Given the description of an element on the screen output the (x, y) to click on. 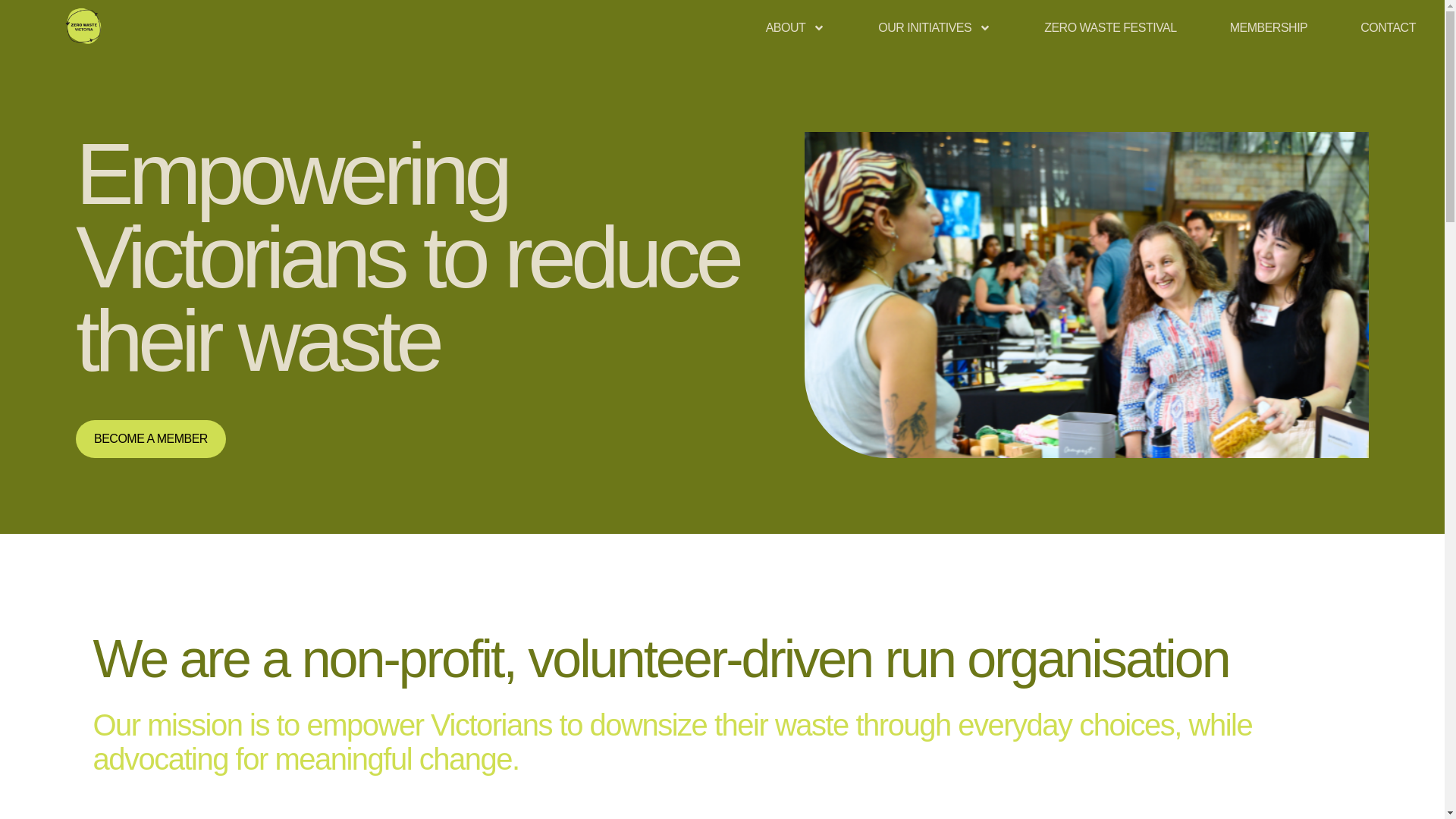
ZERO WASTE FESTIVAL (1109, 27)
OUR INITIATIVES (934, 27)
MEMBERSHIP (1268, 27)
ABOUT (795, 27)
CONTACT (1387, 27)
